Given the description of an element on the screen output the (x, y) to click on. 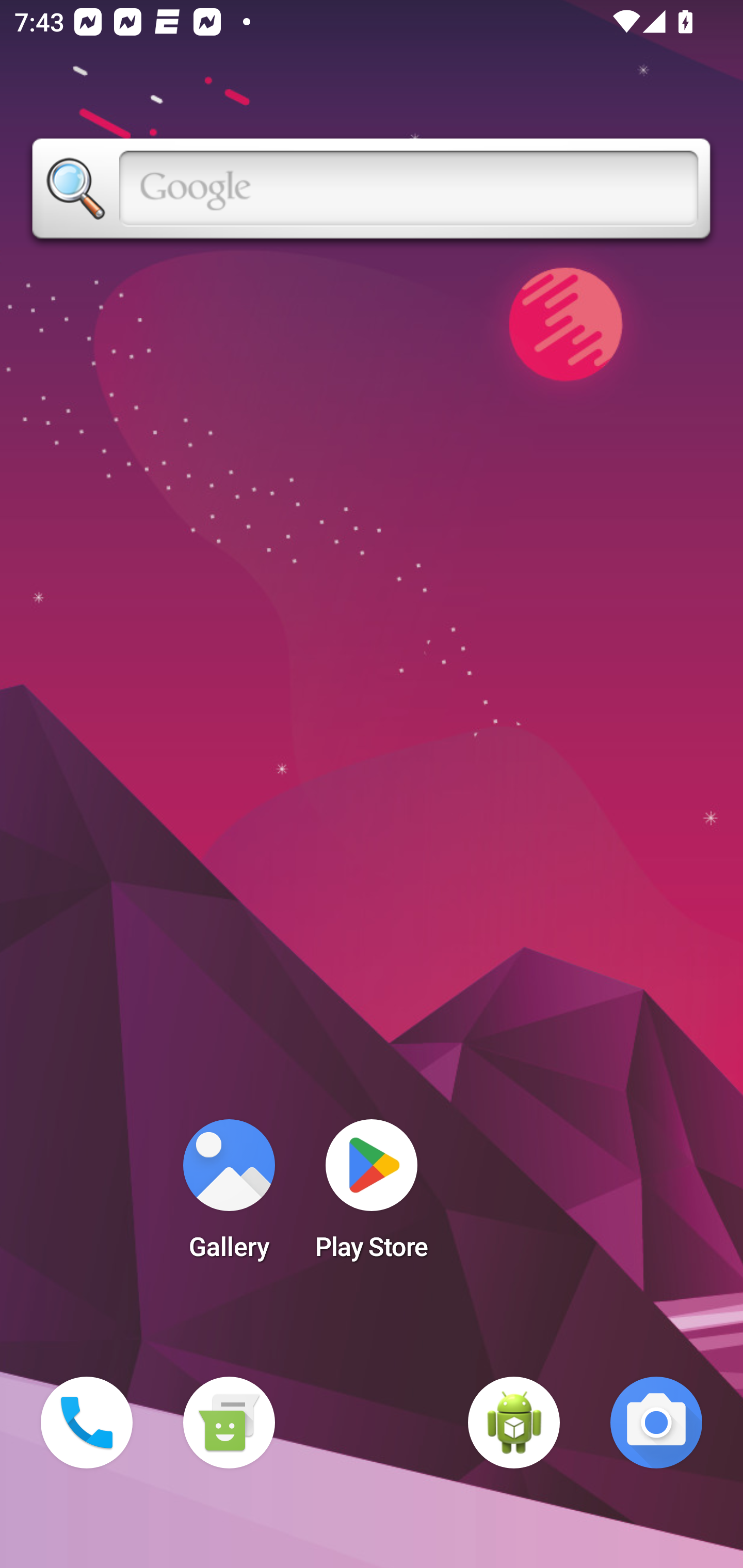
Gallery (228, 1195)
Play Store (371, 1195)
Phone (86, 1422)
Messaging (228, 1422)
WebView Browser Tester (513, 1422)
Camera (656, 1422)
